Given the description of an element on the screen output the (x, y) to click on. 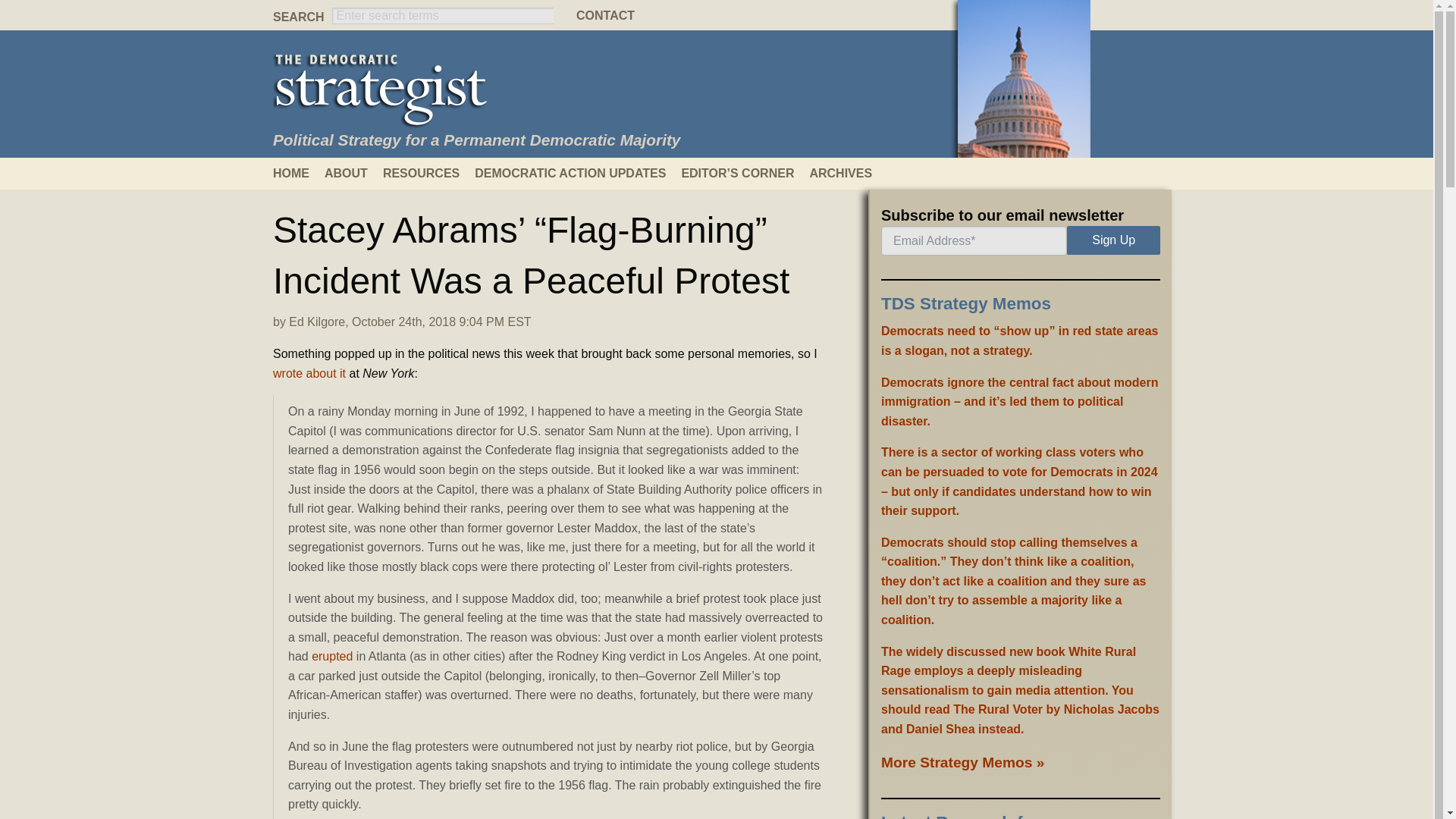
Archives (847, 173)
RESOURCES (428, 173)
HOME (298, 173)
wrote about it (309, 373)
About (353, 173)
Resources (428, 173)
Sign Up (1113, 240)
Home (298, 173)
Ed Kilgore (316, 321)
CONTACT (716, 15)
erupted (331, 656)
Democratic Action Updates (577, 173)
DEMOCRATIC ACTION UPDATES (577, 173)
Posts by Ed Kilgore (316, 321)
